Given the description of an element on the screen output the (x, y) to click on. 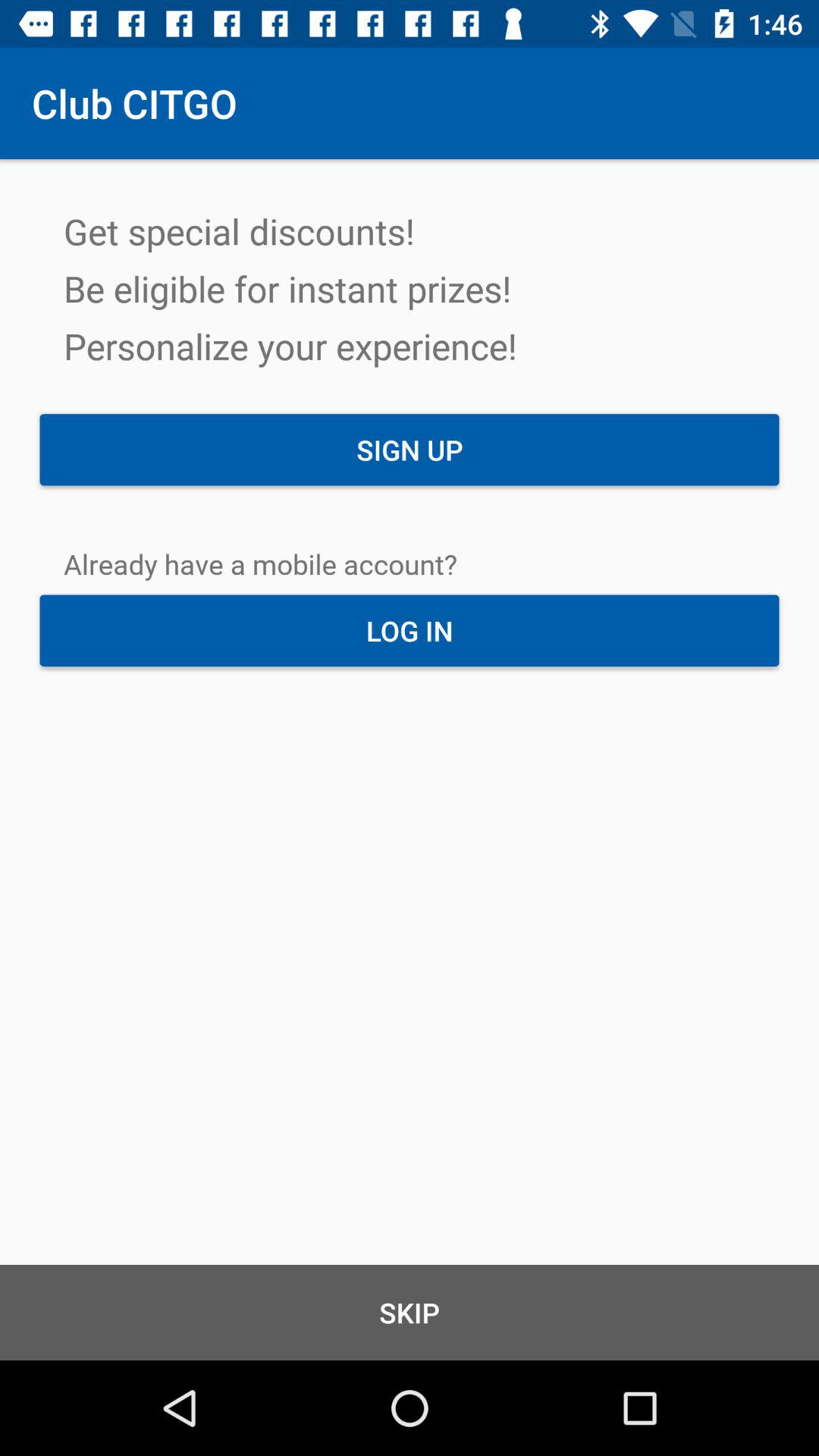
launch log in (409, 630)
